Given the description of an element on the screen output the (x, y) to click on. 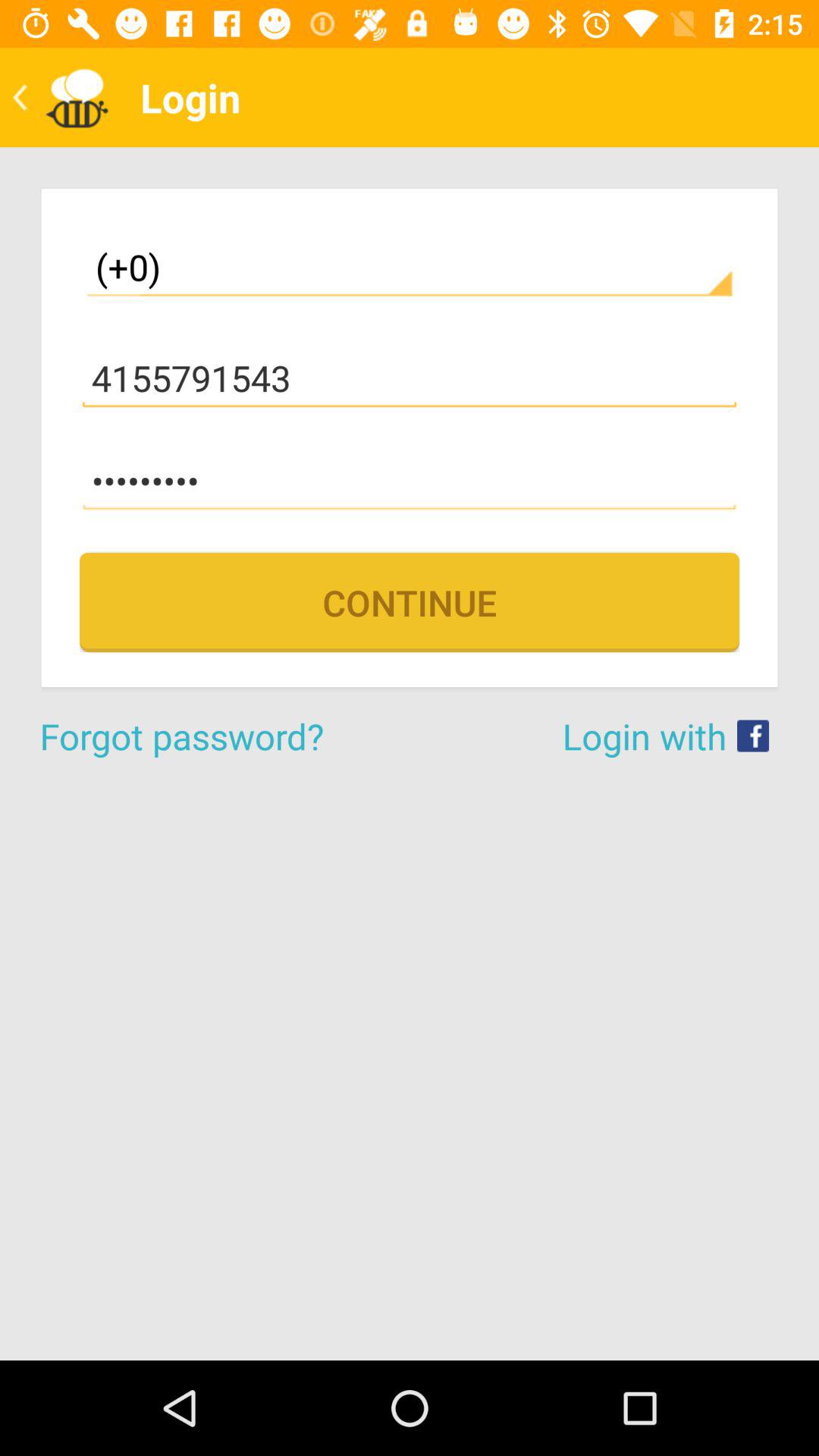
click icon at the center (409, 602)
